Given the description of an element on the screen output the (x, y) to click on. 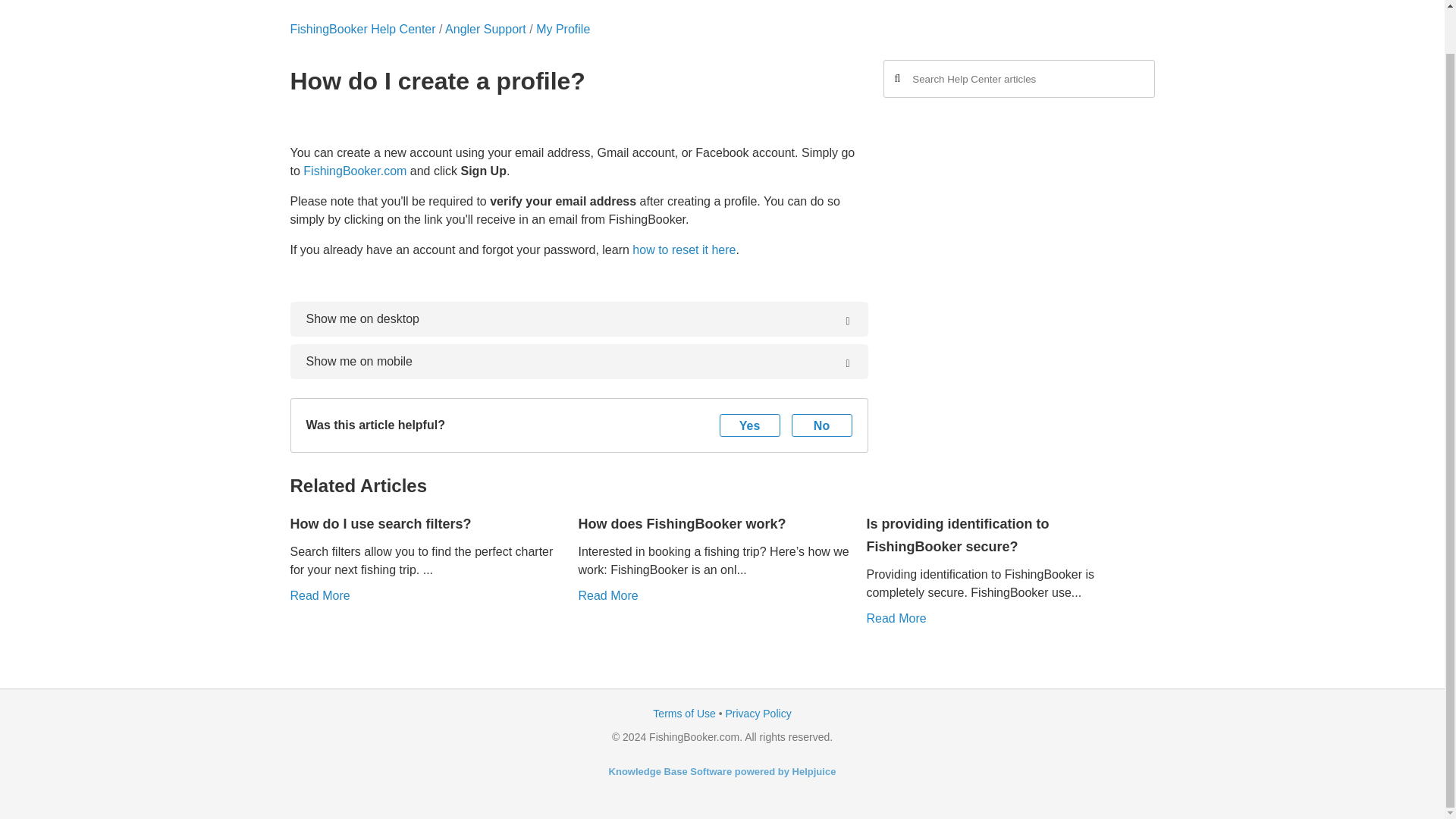
Read More (896, 617)
Yes (748, 425)
No (821, 425)
Read More (319, 594)
My Profile (562, 29)
Knowledge Base Software powered by Helpjuice (721, 771)
FishingBooker Help Center (362, 29)
Read More (607, 594)
FishingBooker.com (354, 170)
how to reset it here (683, 249)
